Given the description of an element on the screen output the (x, y) to click on. 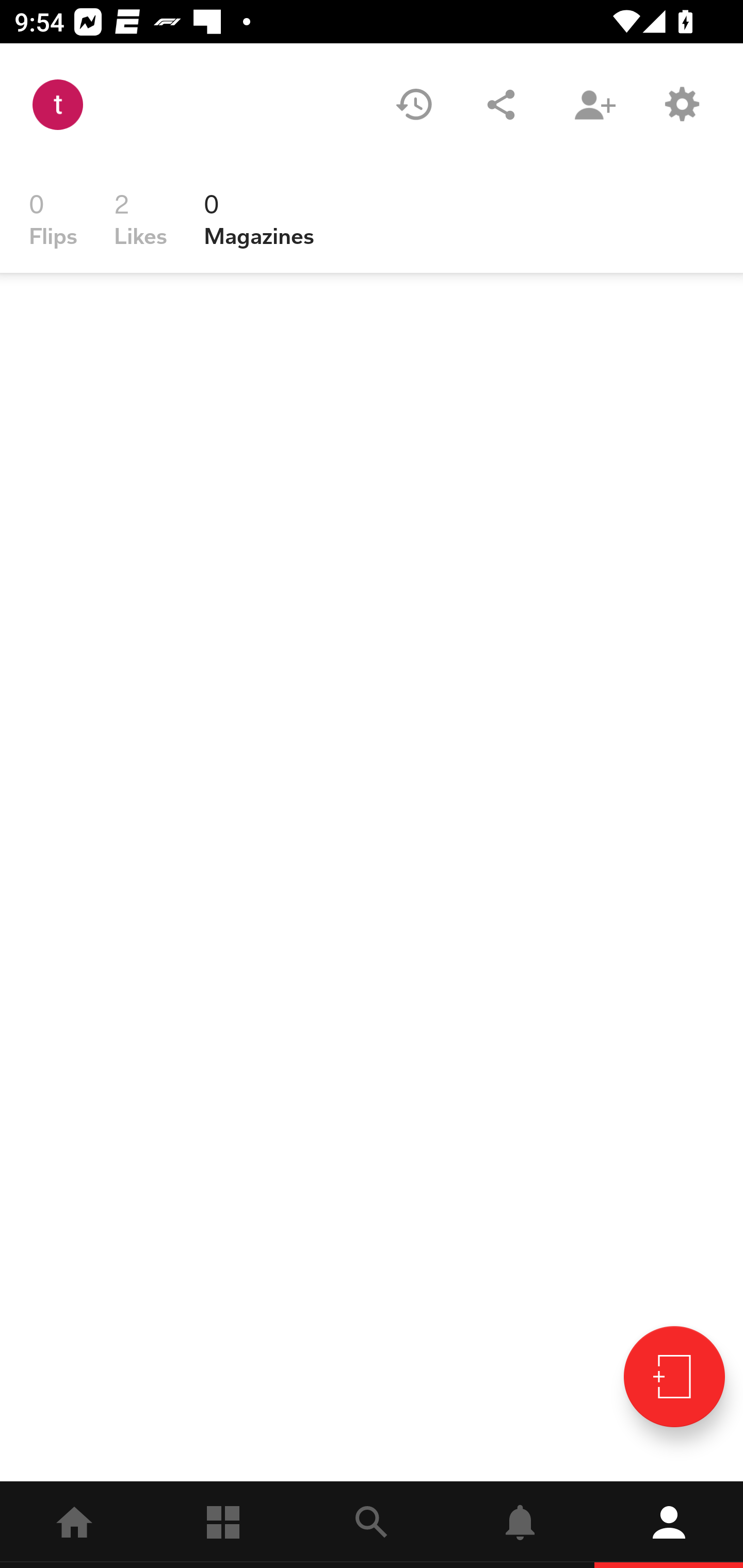
Share (500, 104)
Find Friends (594, 104)
Settings (681, 104)
0 Flips (53, 219)
2 Likes (140, 219)
0 Magazines (258, 219)
home (74, 1524)
Following (222, 1524)
explore (371, 1524)
Notifications (519, 1524)
Profile (668, 1524)
